Given the description of an element on the screen output the (x, y) to click on. 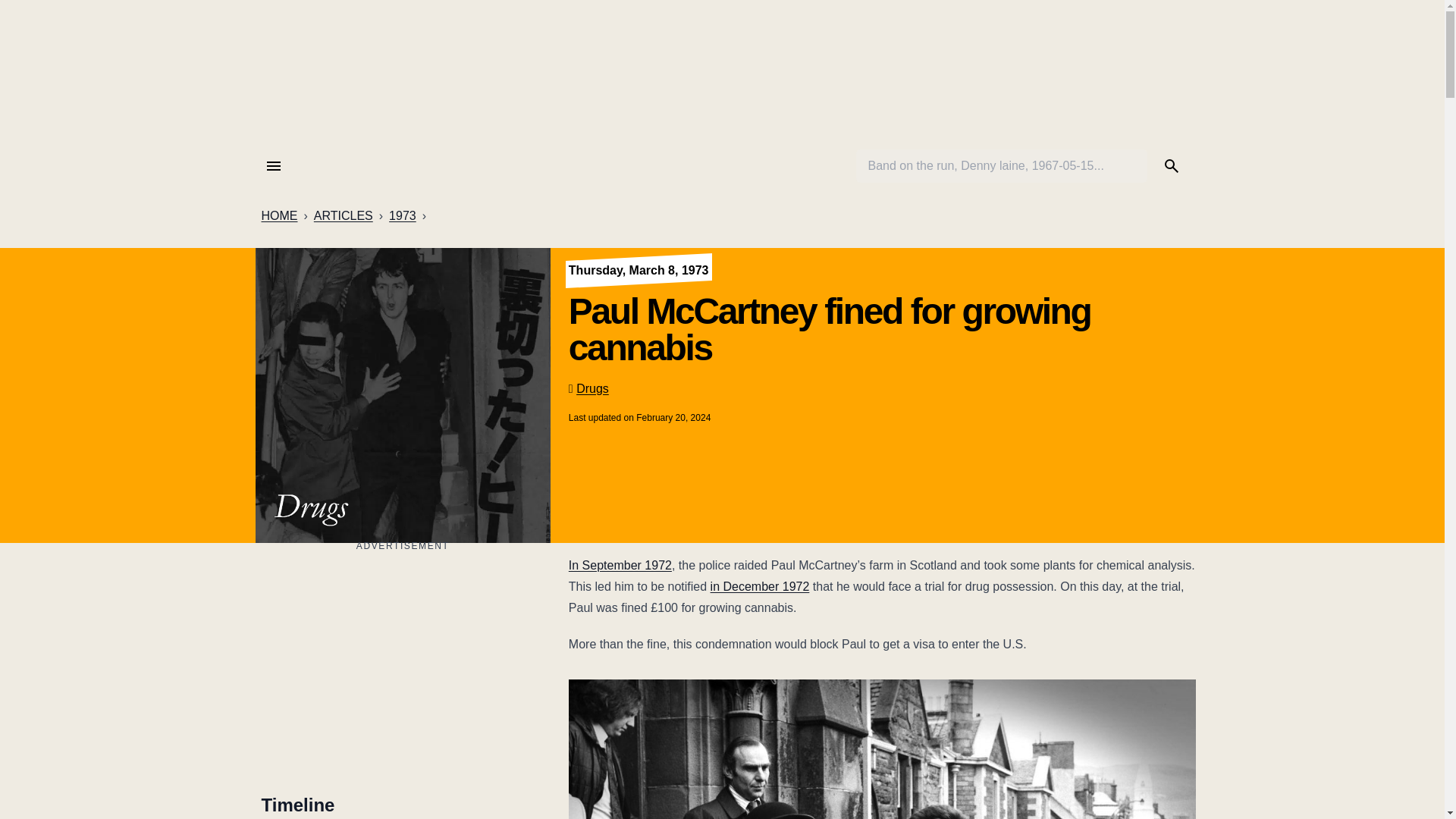
Advertisement (401, 661)
The Paul McCartney Project (721, 73)
ARTICLES (343, 215)
1973 (402, 215)
HOME (278, 215)
Drugs (592, 388)
